Given the description of an element on the screen output the (x, y) to click on. 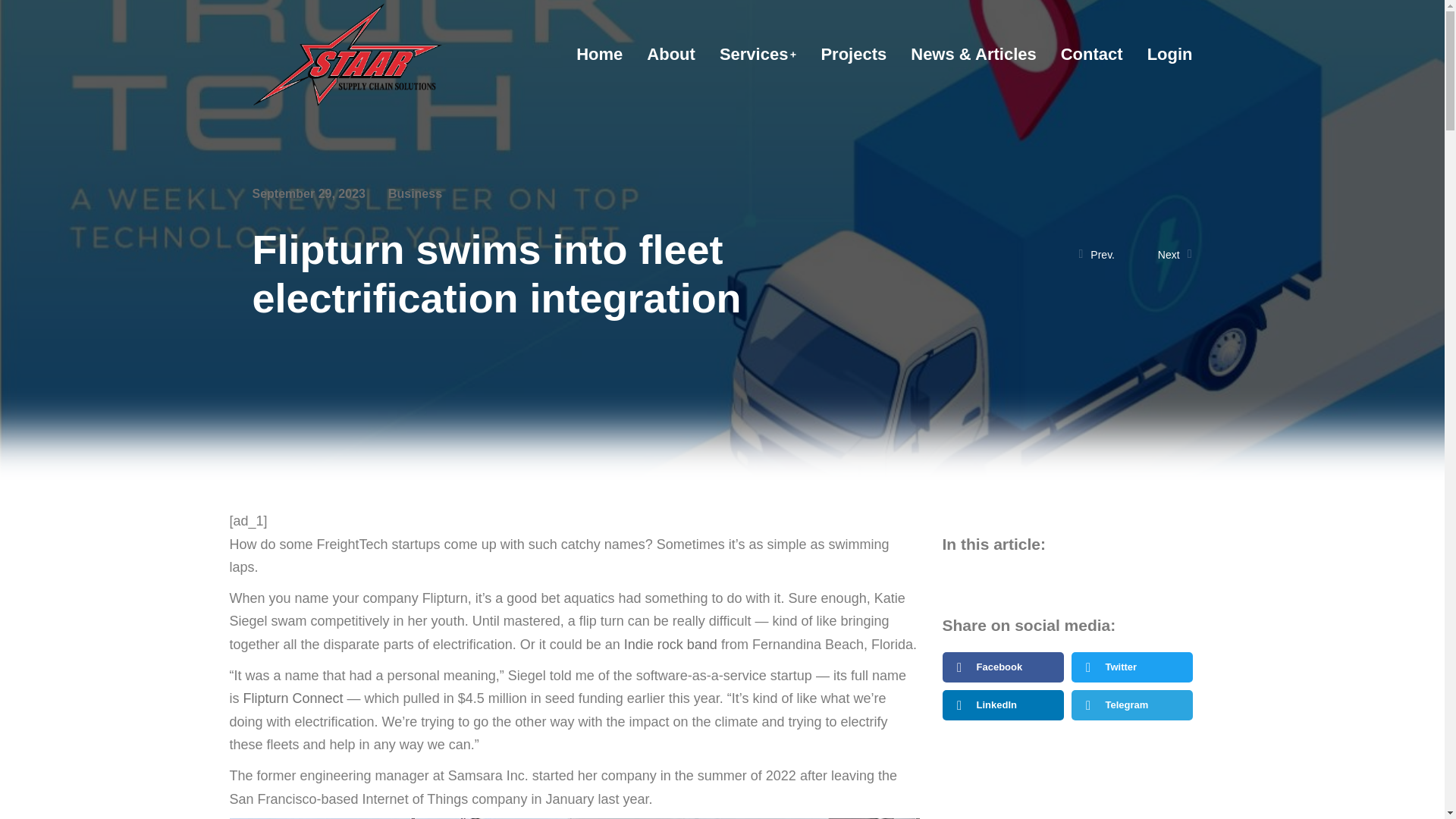
Flipturn Connect (292, 698)
Contact (1091, 54)
Prev. (1106, 254)
About (670, 54)
Login (1169, 54)
Projects (853, 54)
Home (599, 54)
Indie rock band (668, 644)
Services (757, 54)
Business (415, 193)
Next (1163, 254)
